Given the description of an element on the screen output the (x, y) to click on. 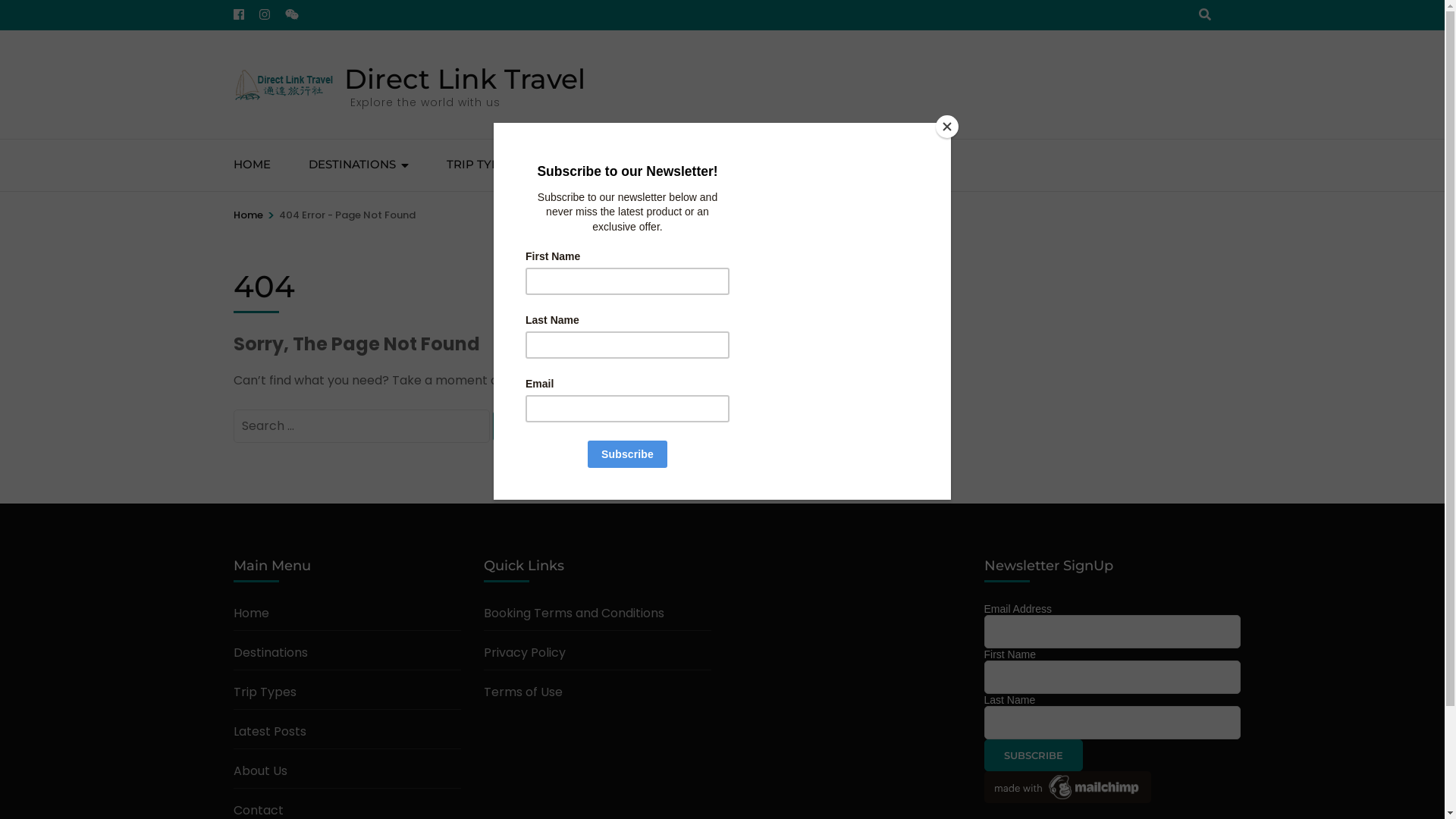
Homepage Element type: text (765, 380)
Latest Posts Element type: text (269, 731)
Direct Link Travel Element type: text (464, 78)
Search Element type: text (533, 426)
DESTINATIONS Element type: text (351, 165)
ABOUT US Element type: text (740, 165)
Booking Terms and Conditions Element type: text (573, 612)
Destinations Element type: text (270, 652)
TRIP TYPES Element type: text (479, 165)
CONTACT Element type: text (836, 165)
Privacy Policy Element type: text (524, 652)
Mailchimp - email marketing made easy and fun Element type: hover (1067, 799)
Home Element type: text (248, 215)
Terms of Use Element type: text (522, 691)
Trip Types Element type: text (264, 691)
HOME Element type: text (251, 165)
DESTINATION NEWS Element type: text (611, 165)
Home Element type: text (251, 612)
About Us Element type: text (260, 770)
Subscribe Element type: text (1033, 755)
